Given the description of an element on the screen output the (x, y) to click on. 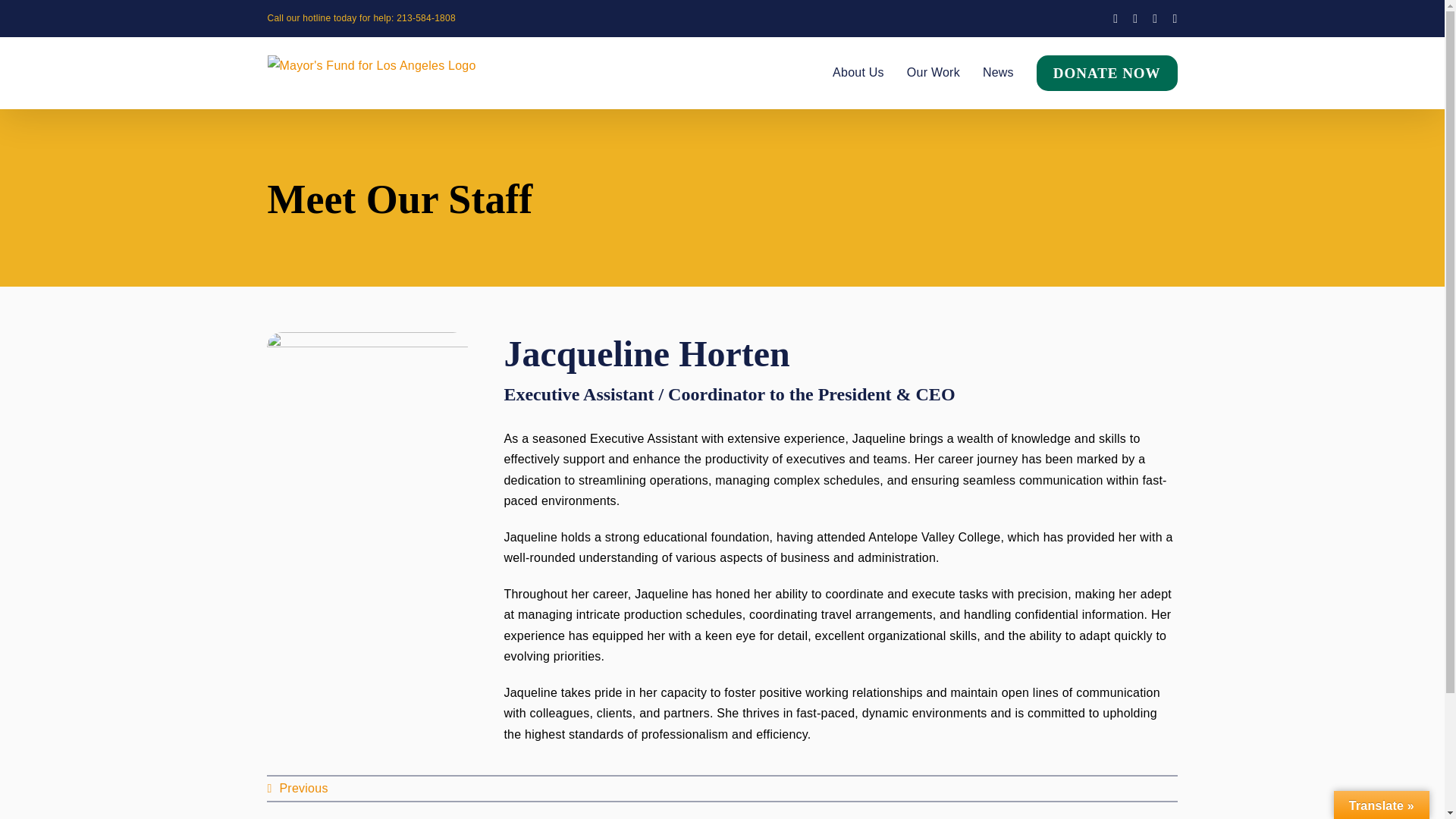
DONATE NOW (1106, 72)
Previous (296, 788)
Jackie-Horten-3 (366, 432)
